Given the description of an element on the screen output the (x, y) to click on. 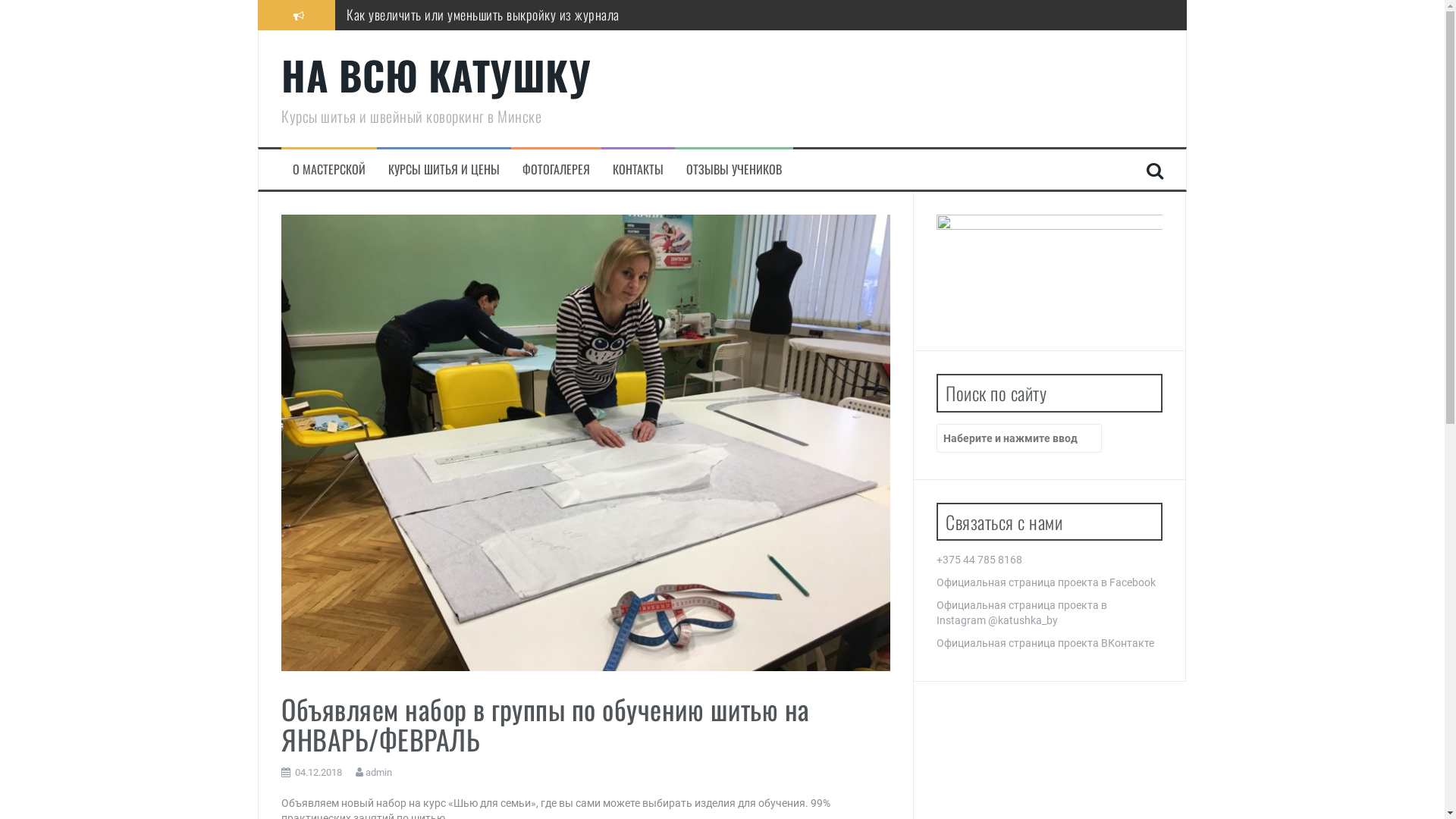
admin Element type: text (378, 772)
@katushka_by Element type: text (1022, 620)
04.12.2018 Element type: text (318, 772)
